Given the description of an element on the screen output the (x, y) to click on. 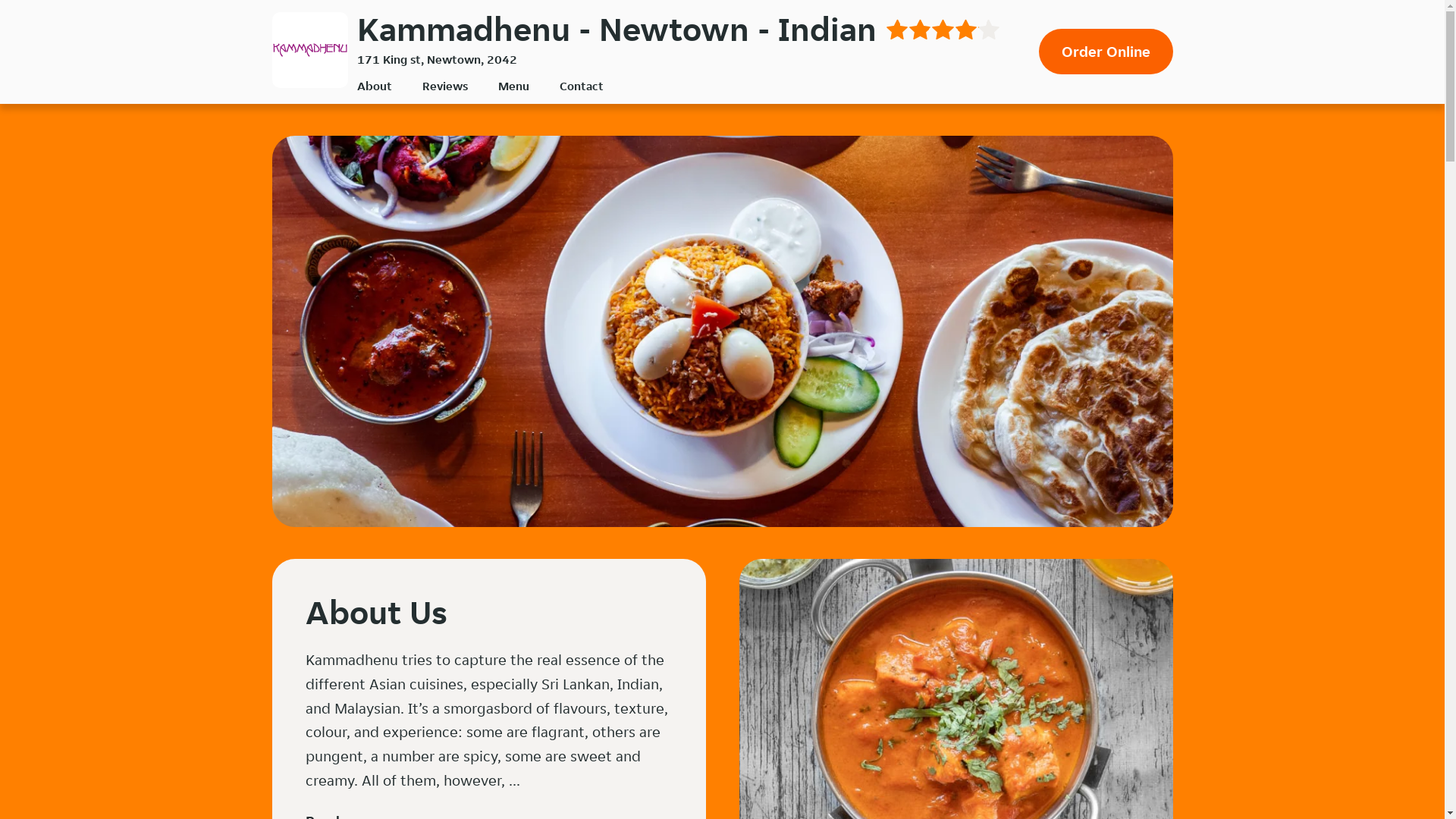
Kammadhenu - Newtown Element type: hover (309, 49)
About Element type: text (373, 86)
Menu Element type: text (512, 86)
Contact Element type: text (581, 86)
Order Online Element type: text (1105, 51)
Reviews Element type: text (444, 86)
